Given the description of an element on the screen output the (x, y) to click on. 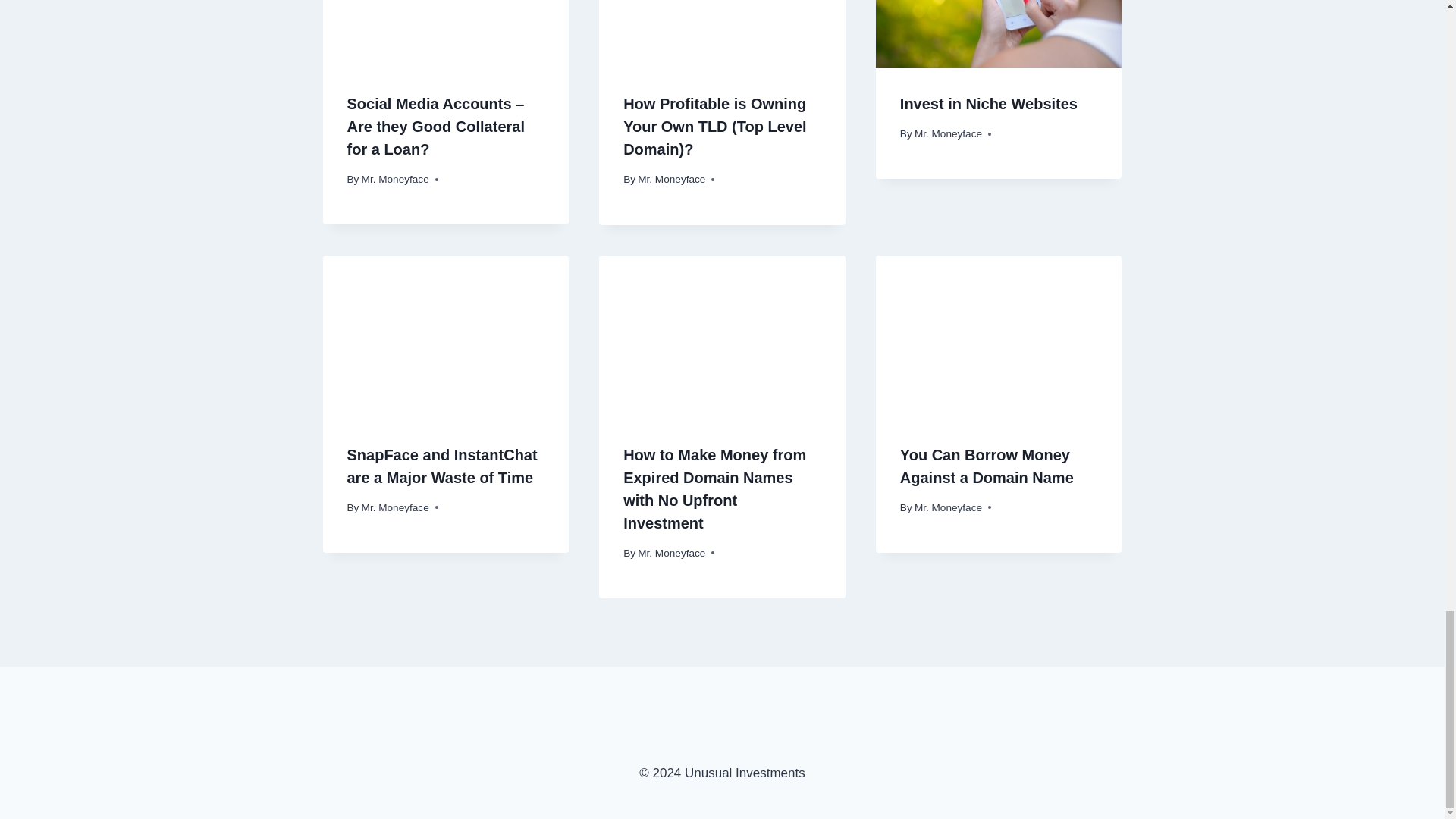
SnapFace and InstantChat are a Major Waste of Time (442, 466)
Mr. Moneyface (395, 179)
Mr. Moneyface (670, 179)
Mr. Moneyface (947, 133)
Mr. Moneyface (395, 507)
Invest in Niche Websites (988, 103)
